Given the description of an element on the screen output the (x, y) to click on. 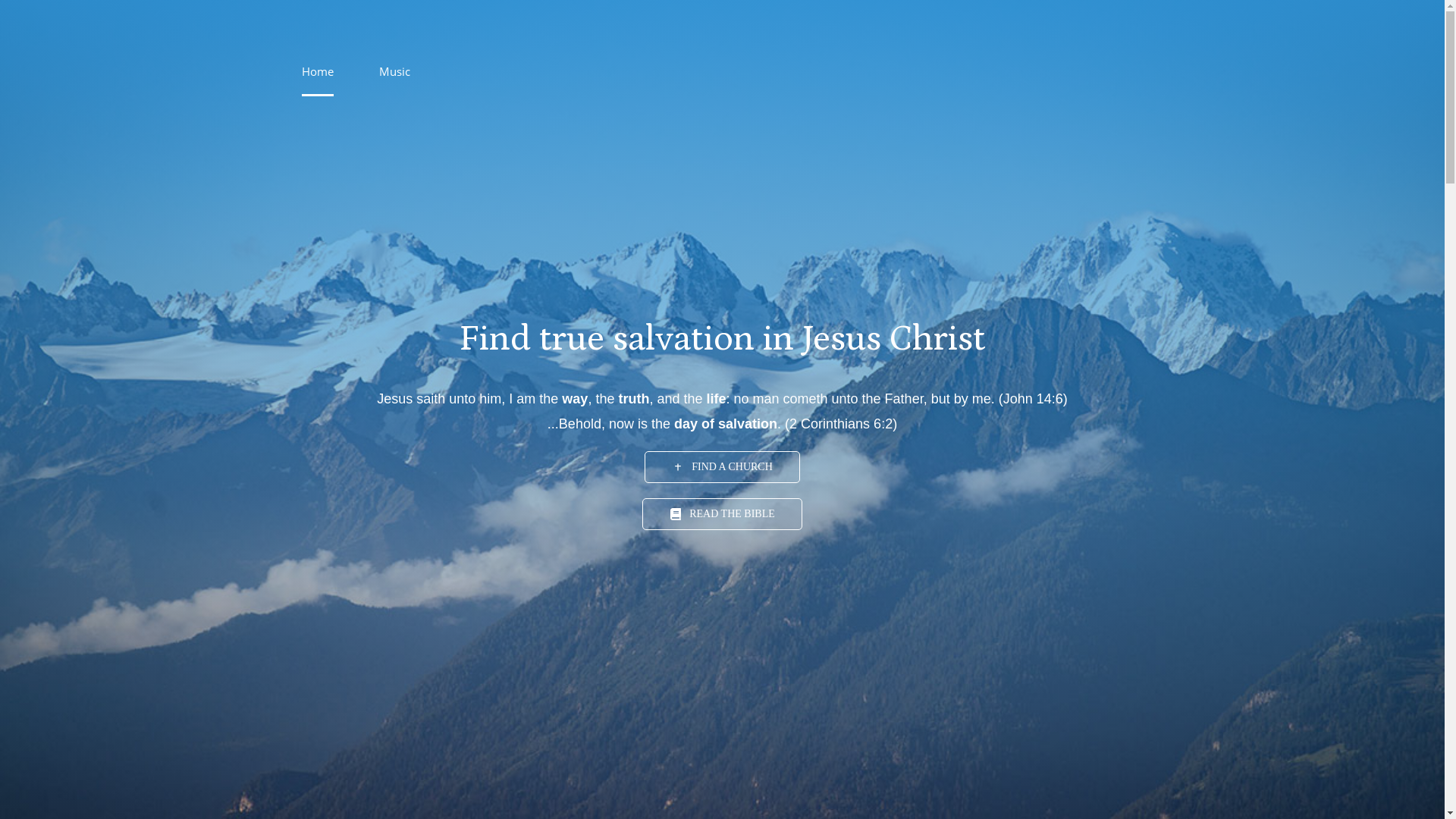
Home Element type: text (317, 71)
READ THE BIBLE Element type: text (722, 514)
FIND A CHURCH Element type: text (722, 467)
Music Element type: text (394, 71)
